Given the description of an element on the screen output the (x, y) to click on. 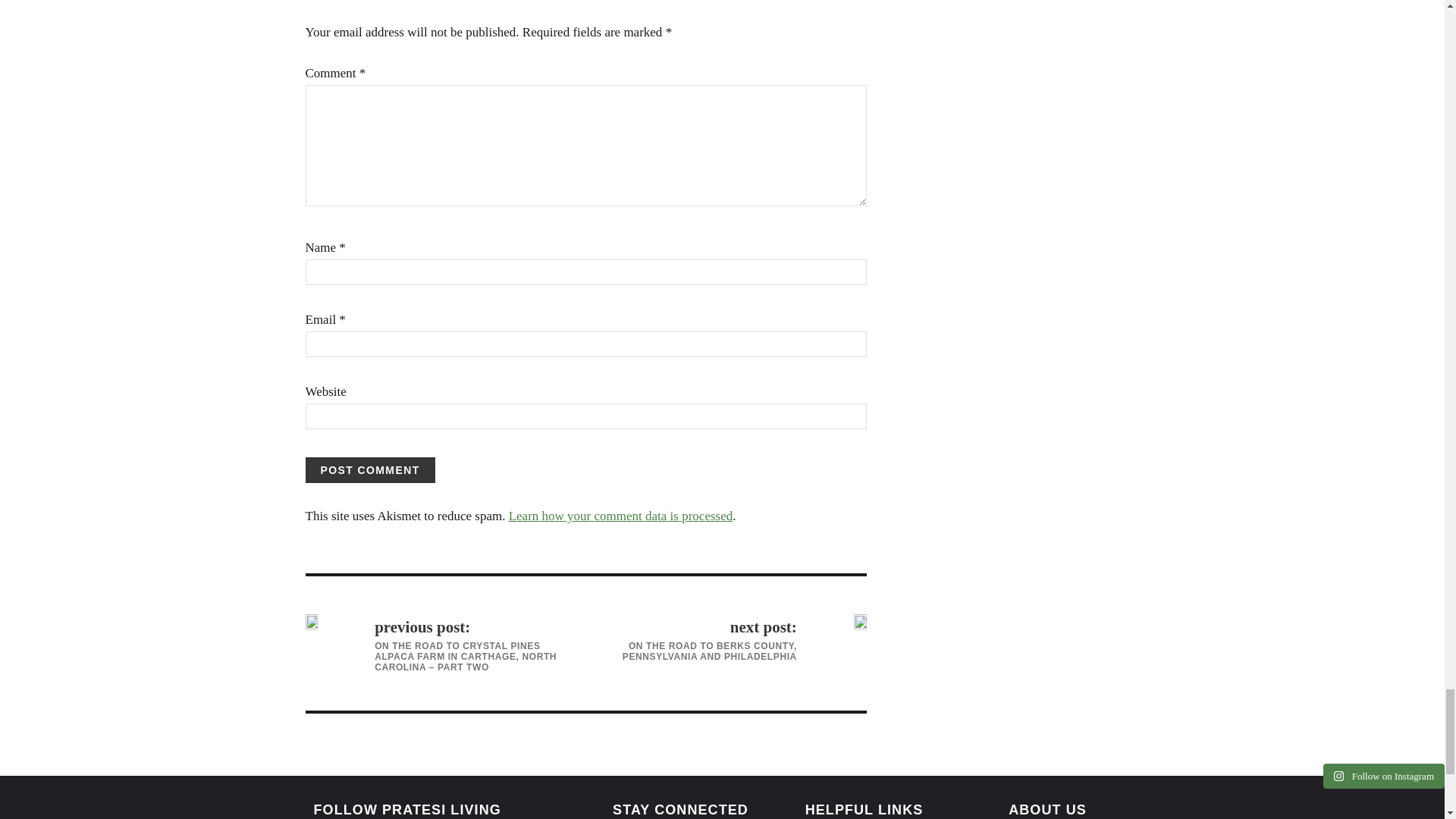
Post Comment (368, 470)
